Given the description of an element on the screen output the (x, y) to click on. 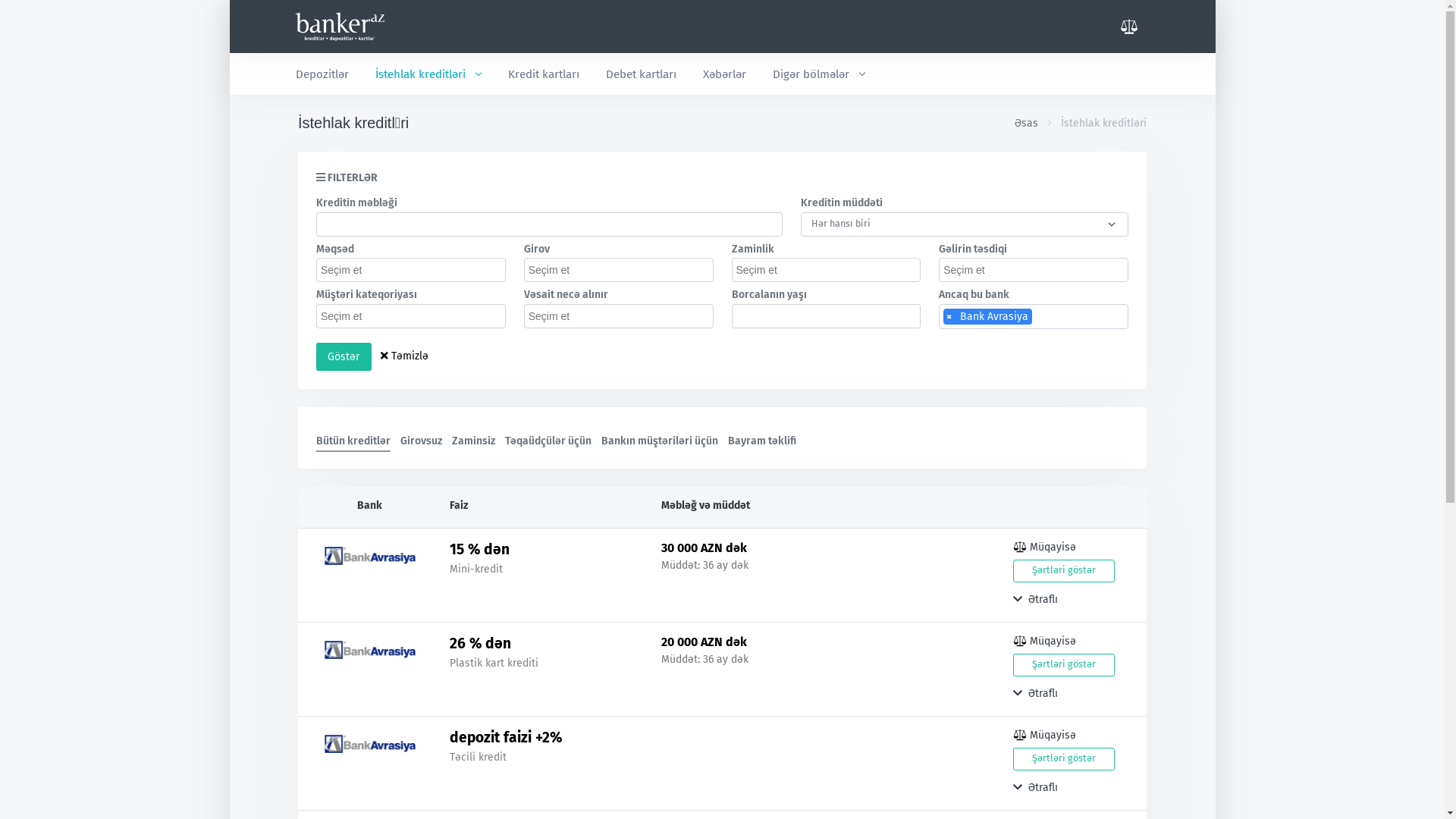
Mini-kredit Element type: text (475, 568)
Zaminsiz Element type: text (473, 437)
Girovsuz Element type: text (421, 437)
Plastik kart krediti Element type: text (493, 662)
